Given the description of an element on the screen output the (x, y) to click on. 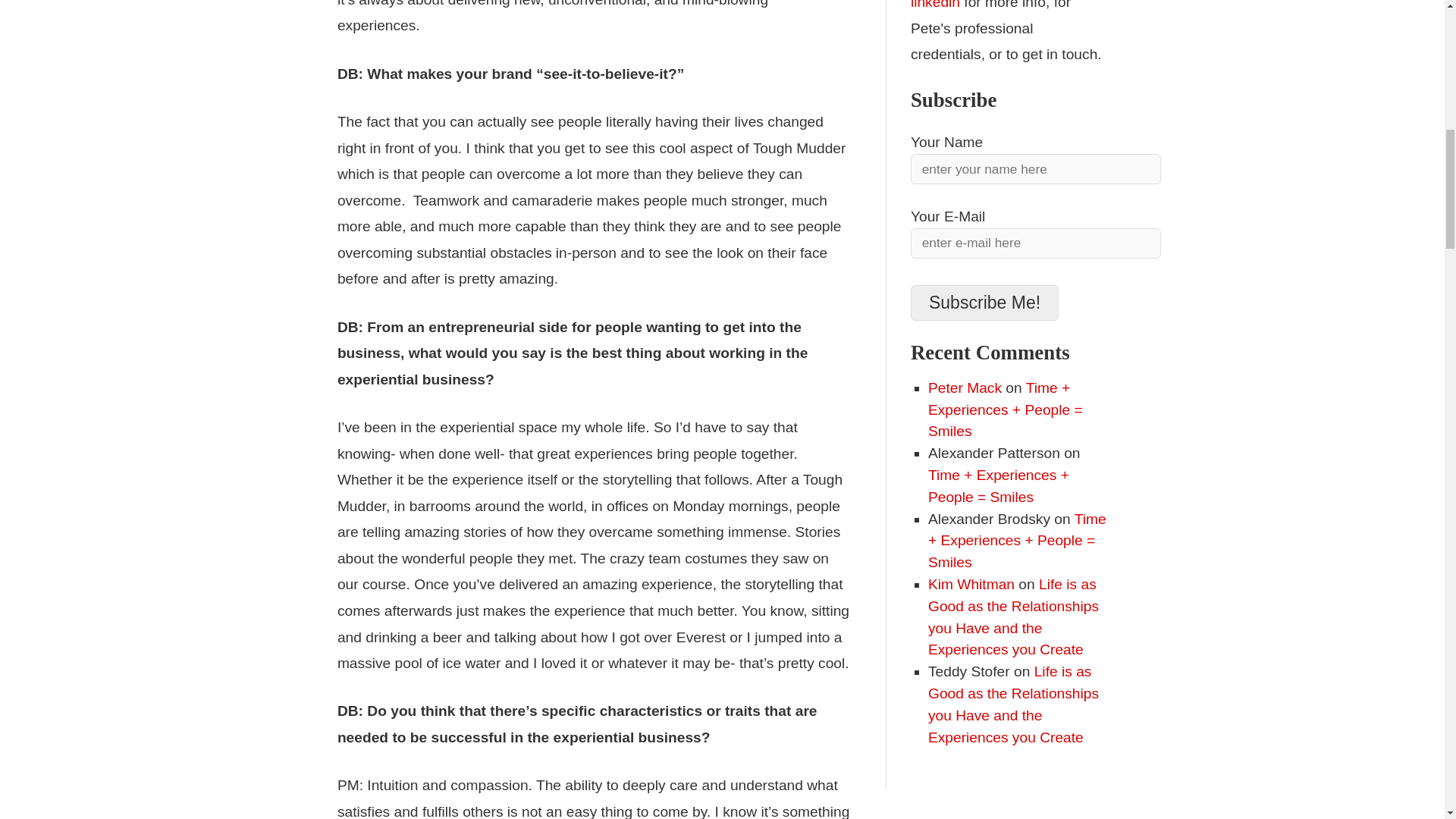
Peter Mack (964, 387)
Subscribe Me! (984, 303)
Subscribe Me! (984, 303)
linkedin (935, 4)
Kim Whitman (971, 584)
